Given the description of an element on the screen output the (x, y) to click on. 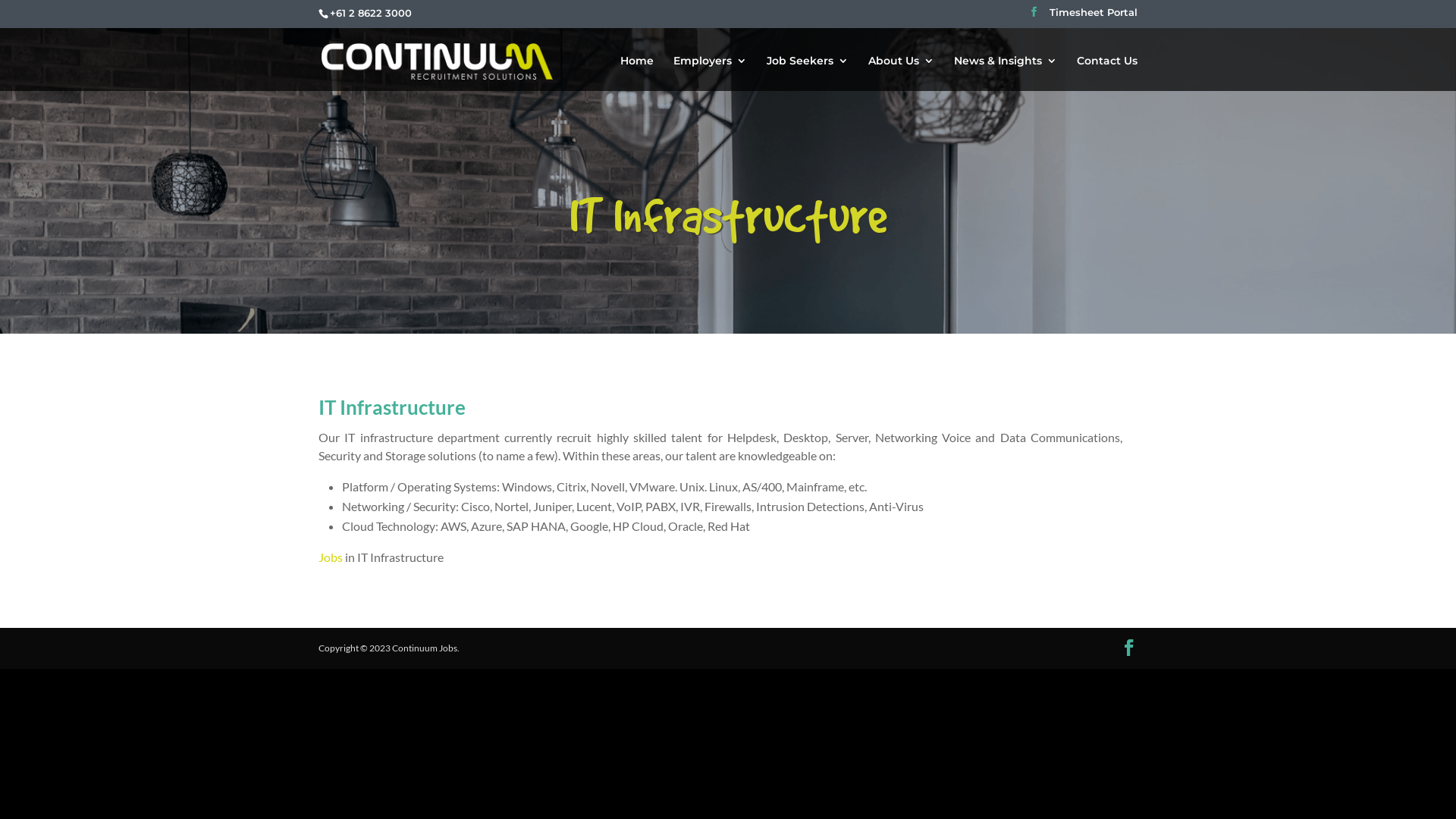
+61 2 8622 3000 Element type: text (370, 12)
Jobs Element type: text (330, 556)
About Us Element type: text (901, 73)
Timesheet Portal Element type: text (1093, 16)
Home Element type: text (636, 73)
Job Seekers Element type: text (807, 73)
Employers Element type: text (709, 73)
Contact Us Element type: text (1106, 73)
News & Insights Element type: text (1005, 73)
